Given the description of an element on the screen output the (x, y) to click on. 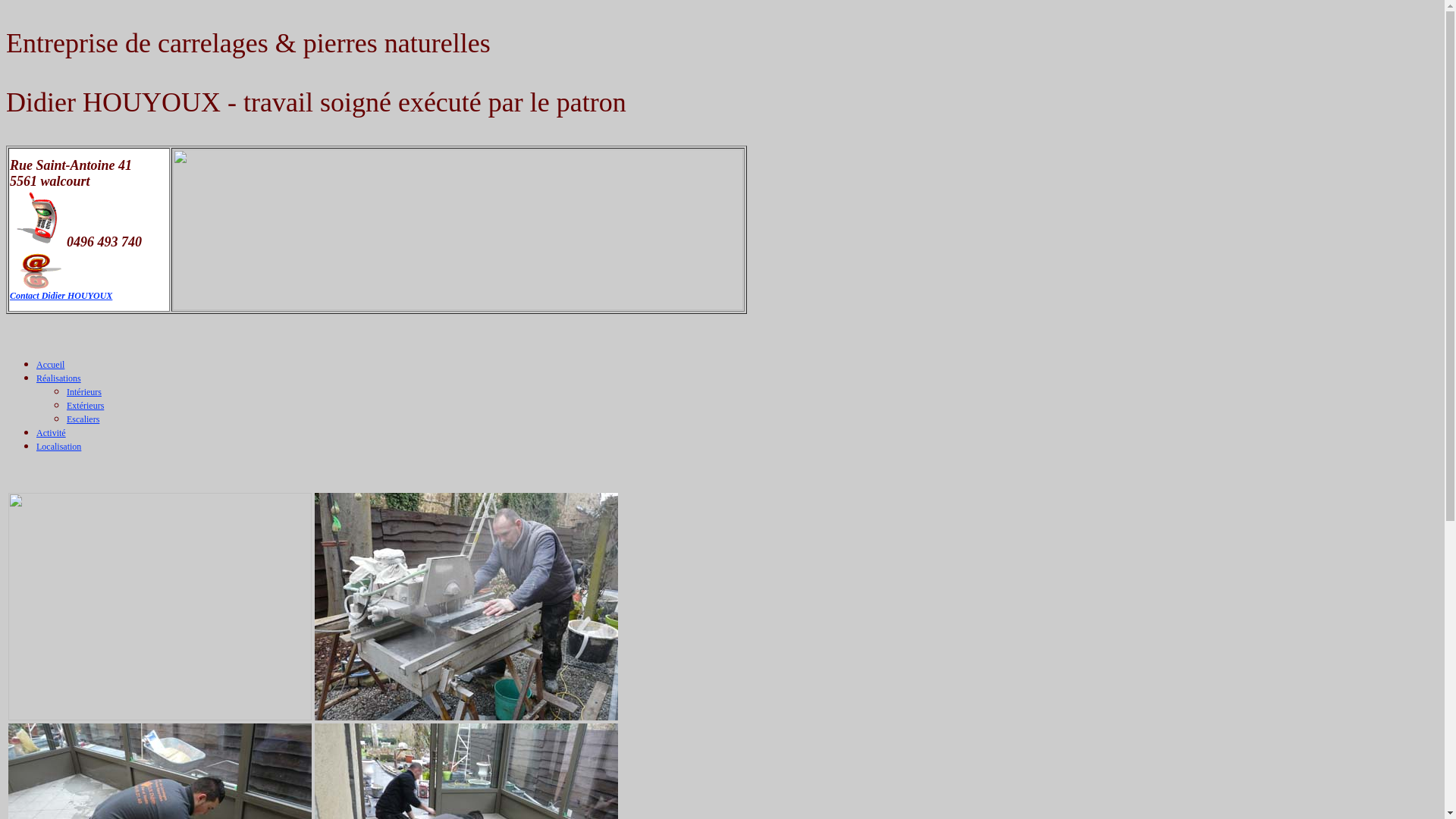
Escaliers Element type: text (82, 419)
Contact Didier HOUYOUX Element type: text (60, 295)
Localisation Element type: text (58, 446)
Accueil Element type: text (50, 364)
